Given the description of an element on the screen output the (x, y) to click on. 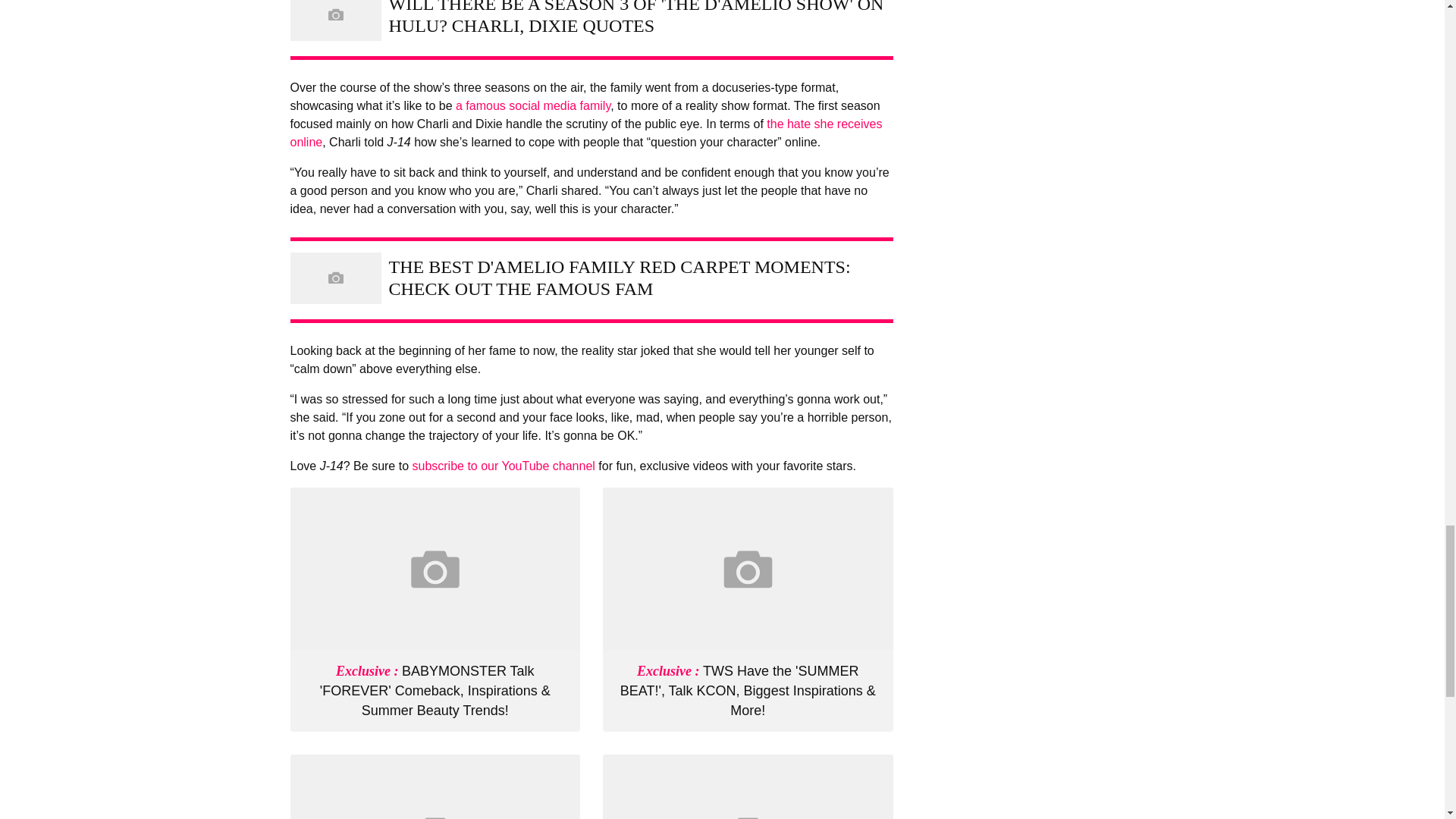
the hate she receives online (585, 132)
a famous social media family (532, 104)
subscribe to our YouTube channel (503, 465)
